Given the description of an element on the screen output the (x, y) to click on. 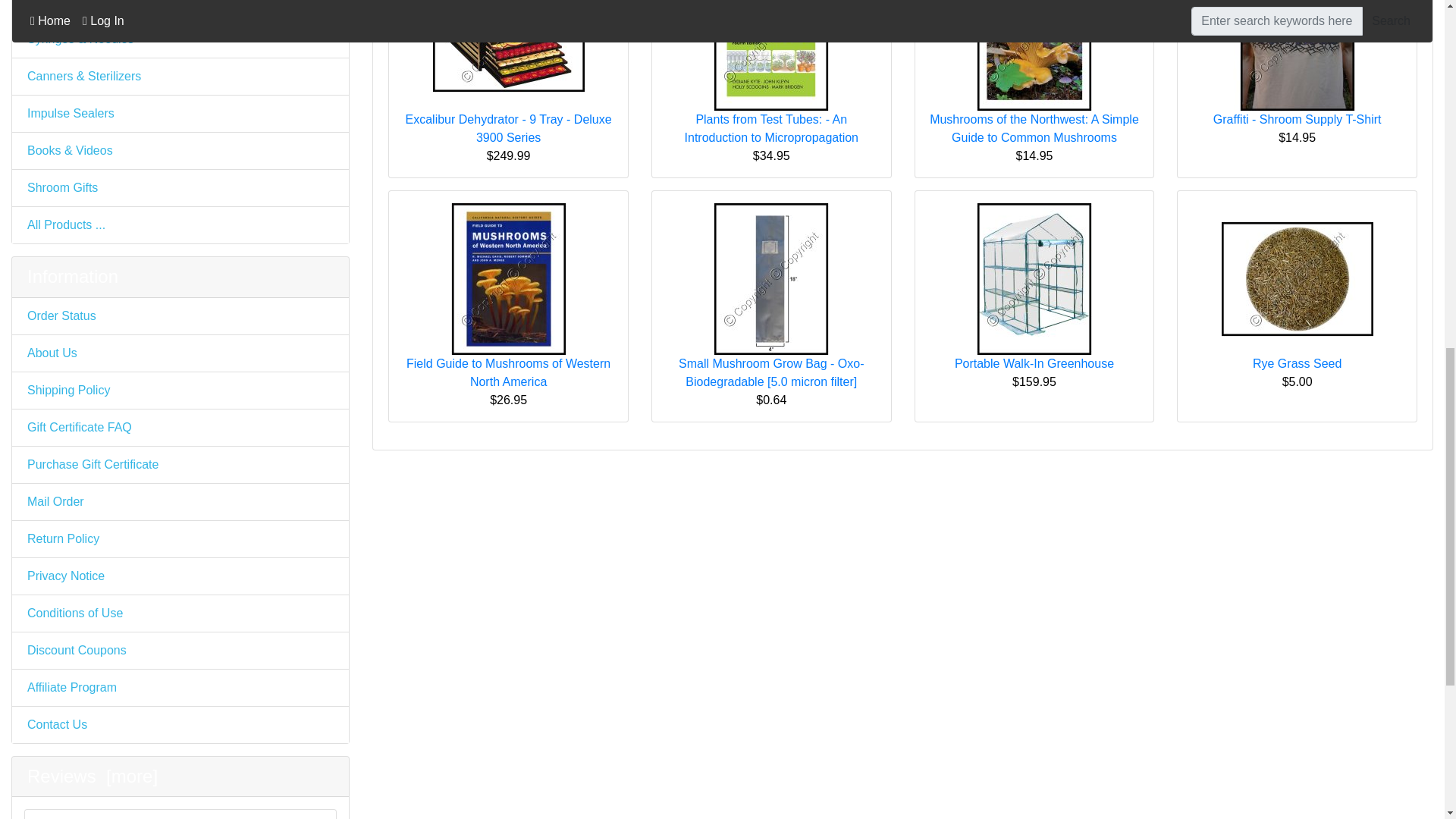
Graffiti - Shroom Supply T-Shirt (1297, 55)
Field Guide to Mushrooms of Western North America (508, 278)
Rye Grass Seed (1297, 278)
Excalibur Dehydrator - 9 Tray - Deluxe 3900 Series (508, 55)
Portable Walk-In Greenhouse (1033, 278)
